Given the description of an element on the screen output the (x, y) to click on. 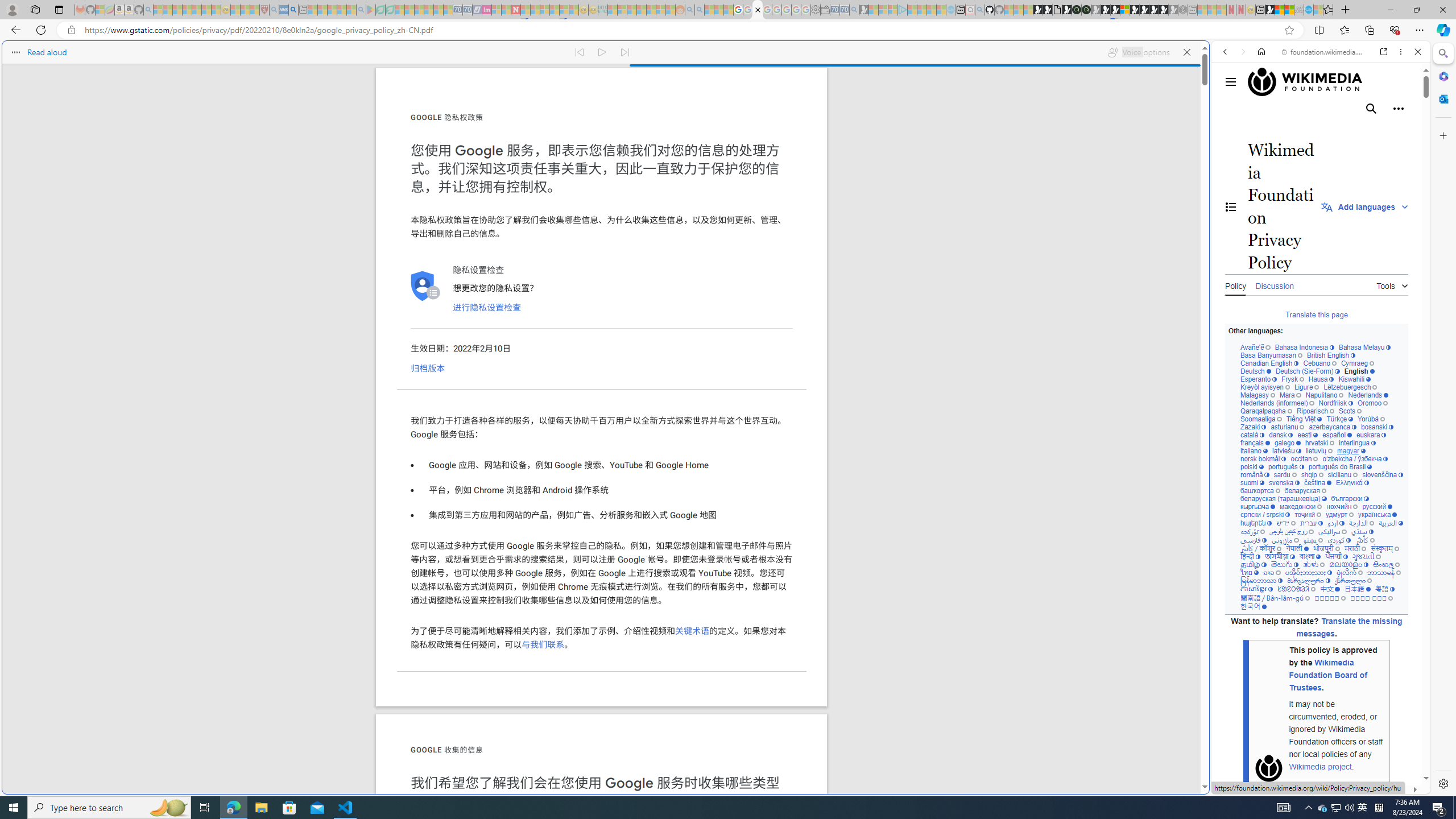
Nederlands (informeel) (1277, 403)
magyar (1350, 451)
Close split screen (1208, 57)
Wikimedia Foundation Governance Wiki (1321, 81)
galego (1287, 442)
Soomaaliga (1260, 419)
